Given the description of an element on the screen output the (x, y) to click on. 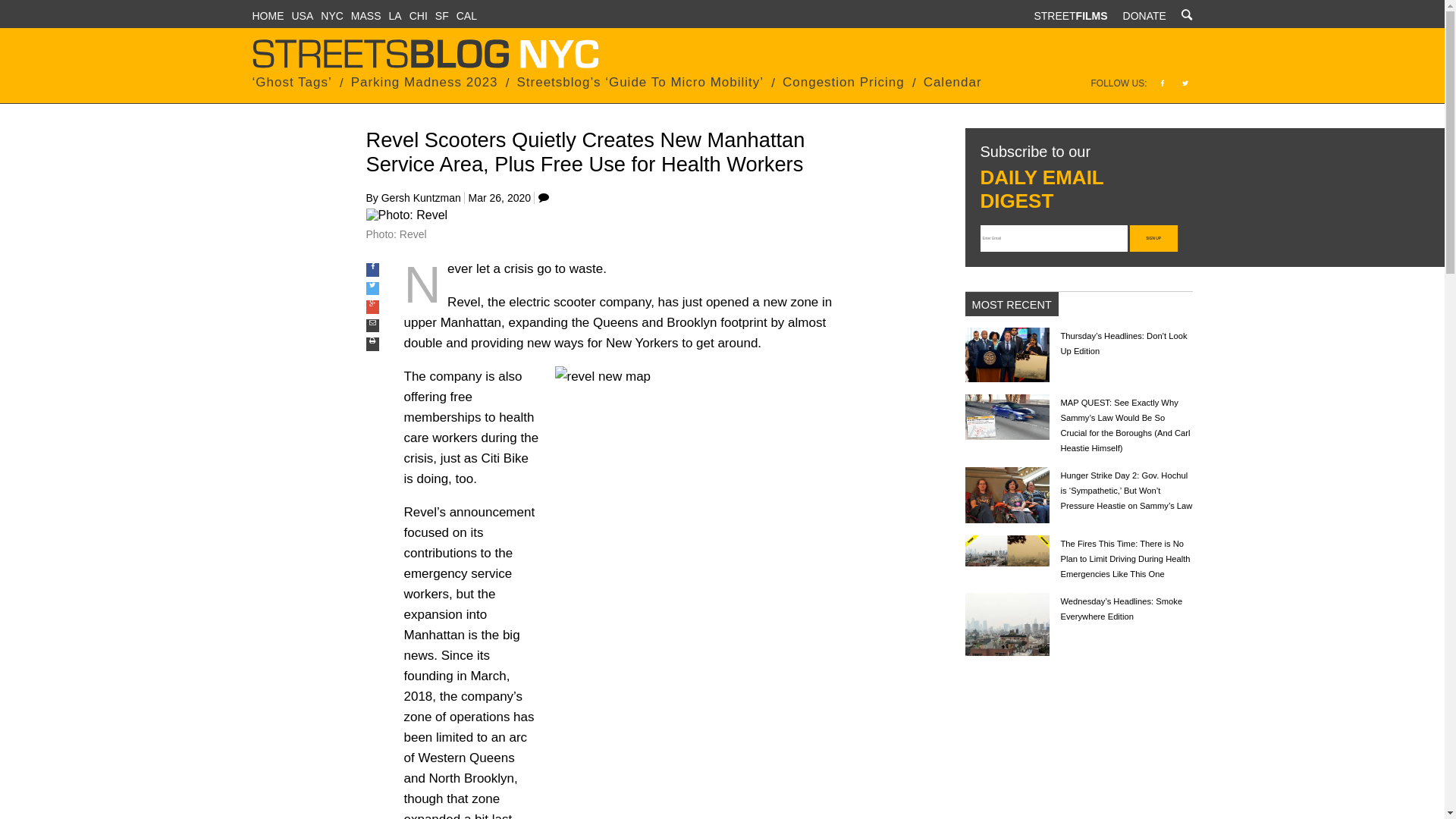
DONATE (1144, 15)
Gersh Kuntzman (421, 197)
MASS (365, 15)
Mar 26, 2020 (499, 197)
USA (302, 15)
LA (394, 15)
Congestion Pricing (843, 82)
SF (441, 15)
NYC (331, 15)
